Given the description of an element on the screen output the (x, y) to click on. 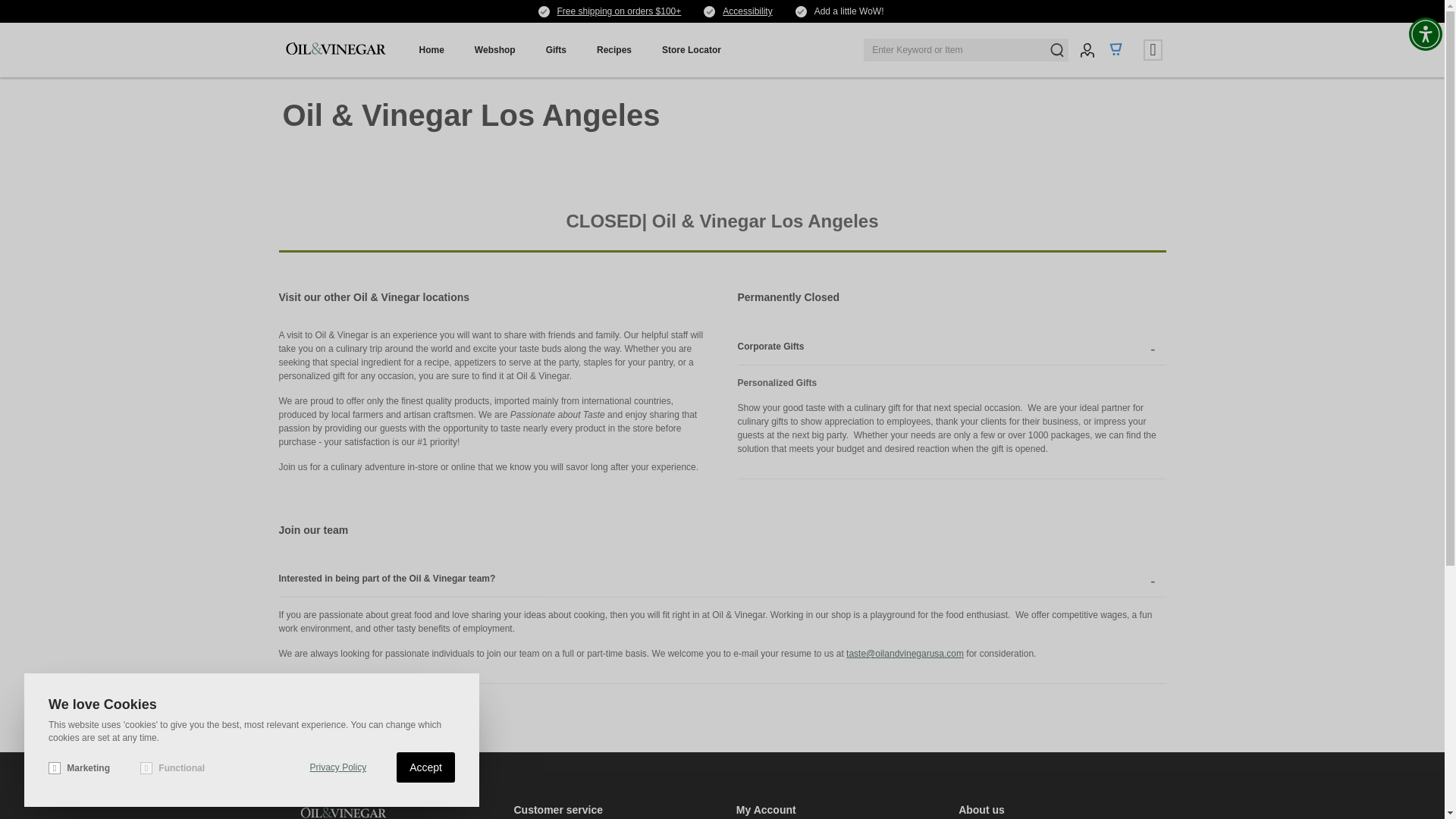
Search (1056, 49)
Accessibility Menu (1425, 33)
Webshop (495, 49)
Accessibility (746, 10)
